Given the description of an element on the screen output the (x, y) to click on. 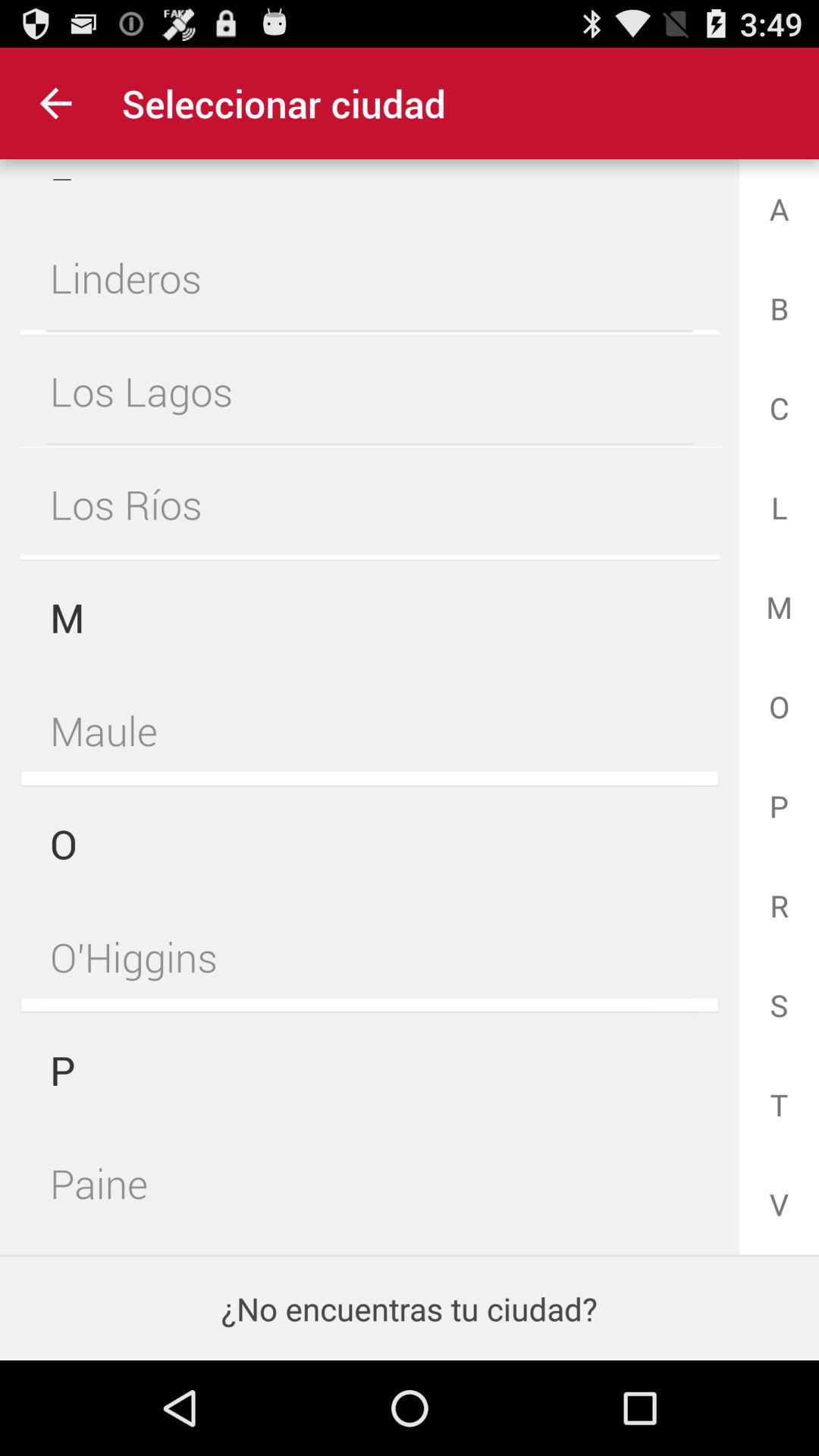
scroll to the paine (369, 1180)
